Given the description of an element on the screen output the (x, y) to click on. 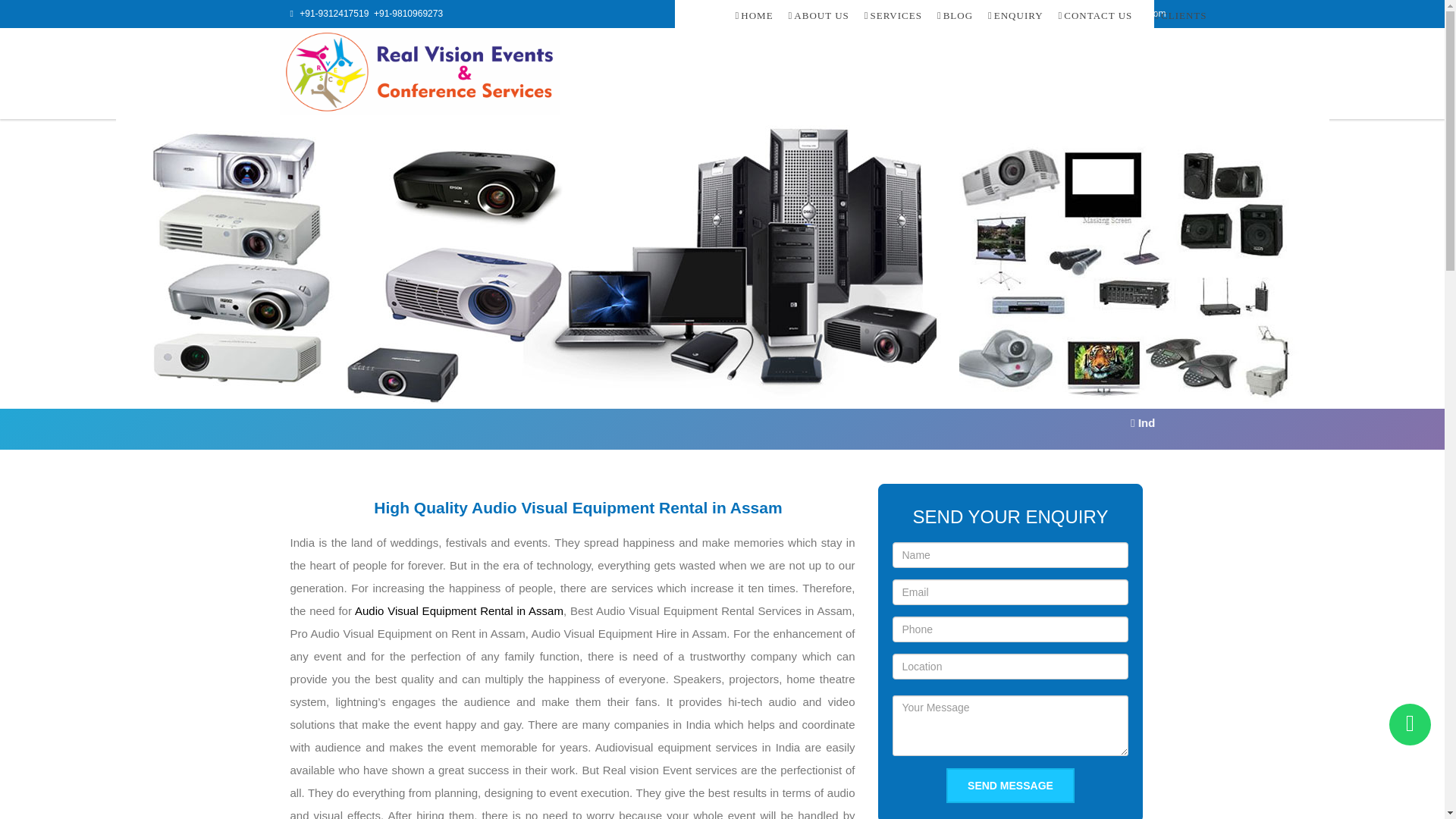
BLOG (954, 17)
ABOUT US (818, 17)
ENQUIRY (1015, 17)
CONTACT US (1095, 17)
HOME (754, 17)
Audio Visual Equipment Rental in Assam (459, 610)
CLIENTS (1173, 17)
SERVICES (893, 17)
SEND MESSAGE (1010, 785)
